Given the description of an element on the screen output the (x, y) to click on. 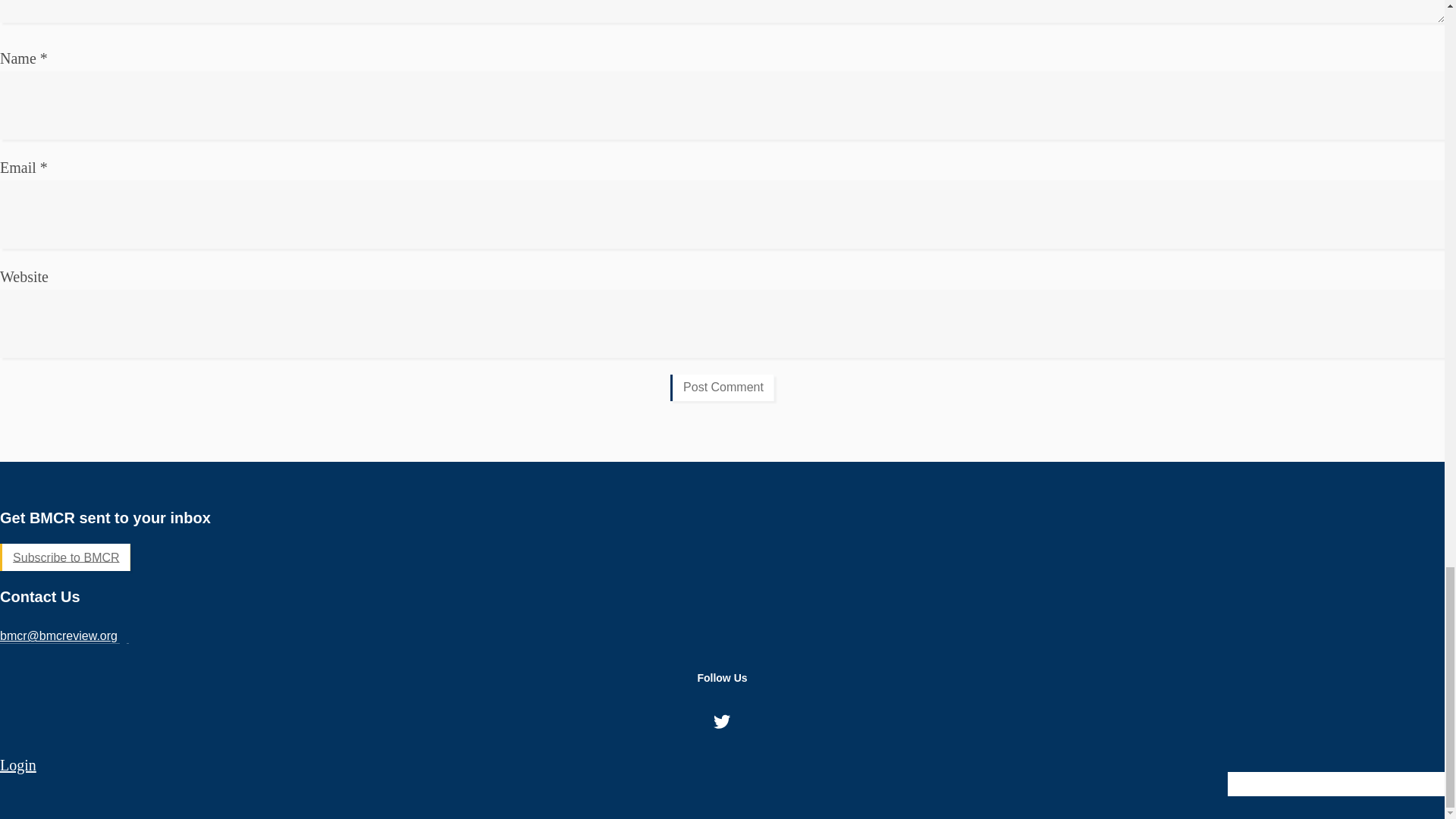
Login (18, 764)
Subscribe to BMCR (65, 556)
Post Comment (721, 387)
Post Comment (721, 387)
